Given the description of an element on the screen output the (x, y) to click on. 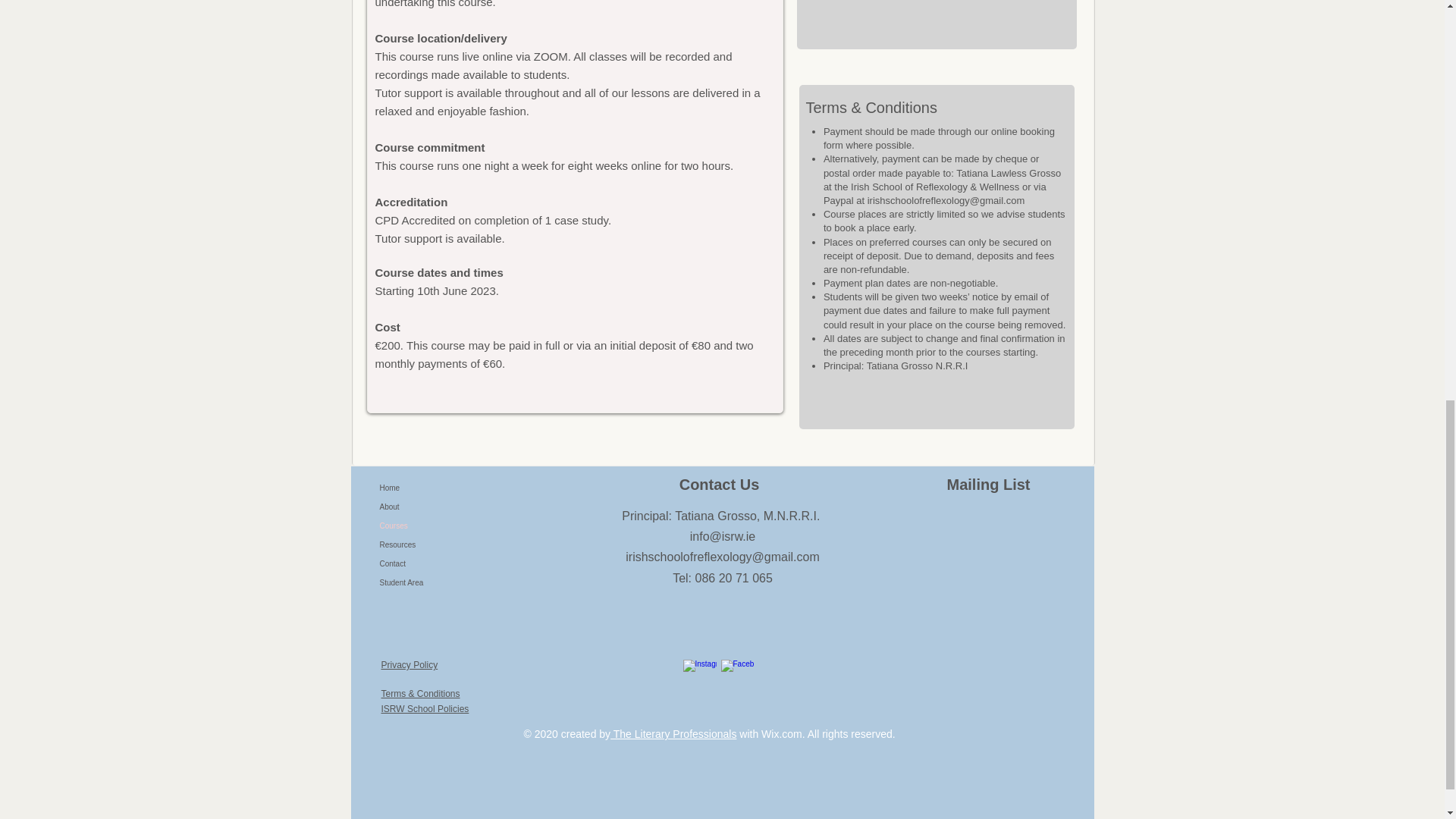
Courses (498, 525)
Course dates and times  (439, 272)
About (498, 506)
Home (498, 487)
